Given the description of an element on the screen output the (x, y) to click on. 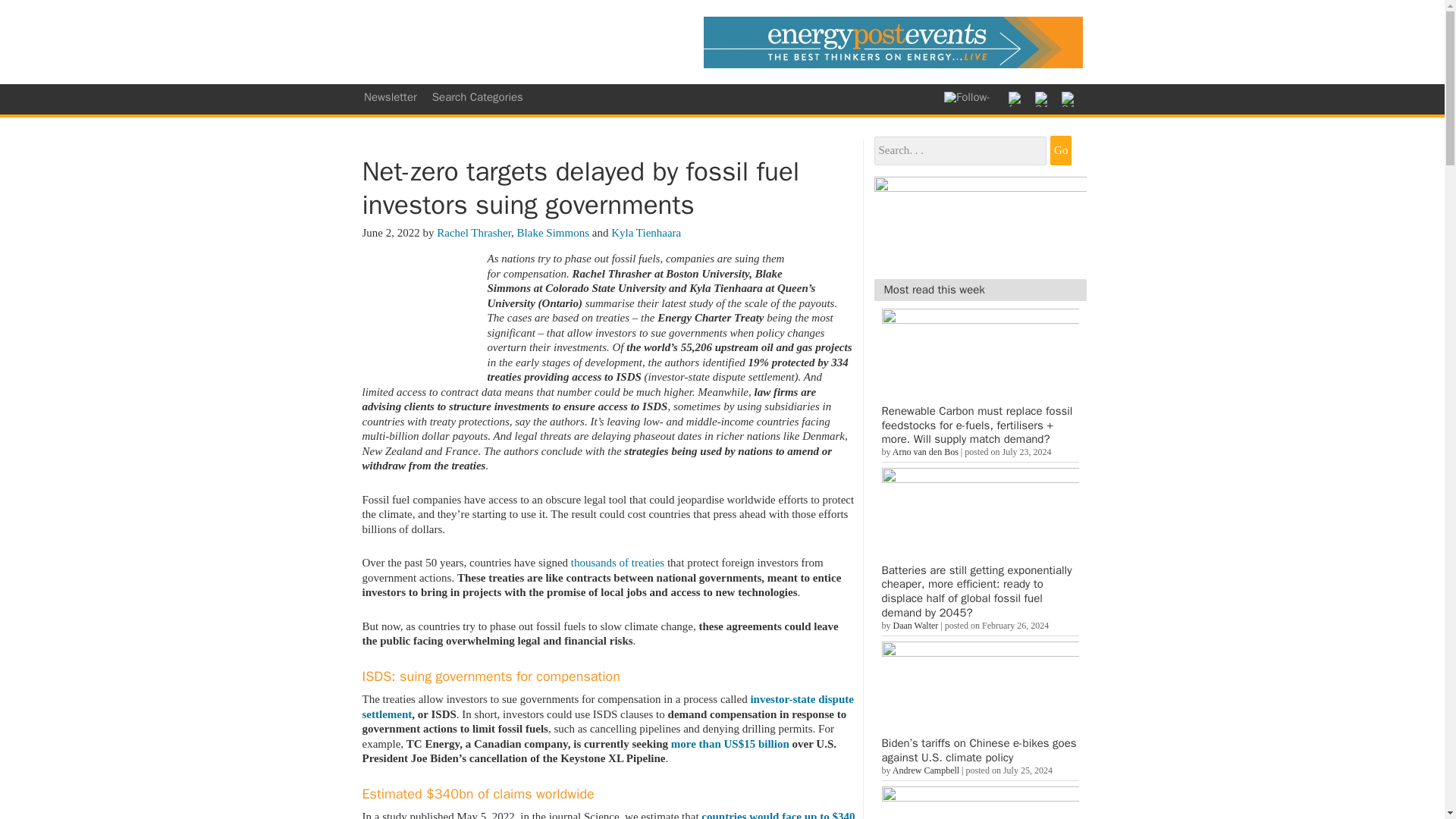
Posts by Blake Simmons (552, 232)
Posts by Rachel Thrasher (473, 232)
Kyla Tienhaara (646, 232)
Blake Simmons (552, 232)
Newsletter (390, 97)
Energy Post (508, 41)
thousands of treaties (616, 562)
Search Categories (478, 97)
investor-state dispute settlement (607, 706)
Rachel Thrasher (473, 232)
Posts by Kyla Tienhaara (646, 232)
